Given the description of an element on the screen output the (x, y) to click on. 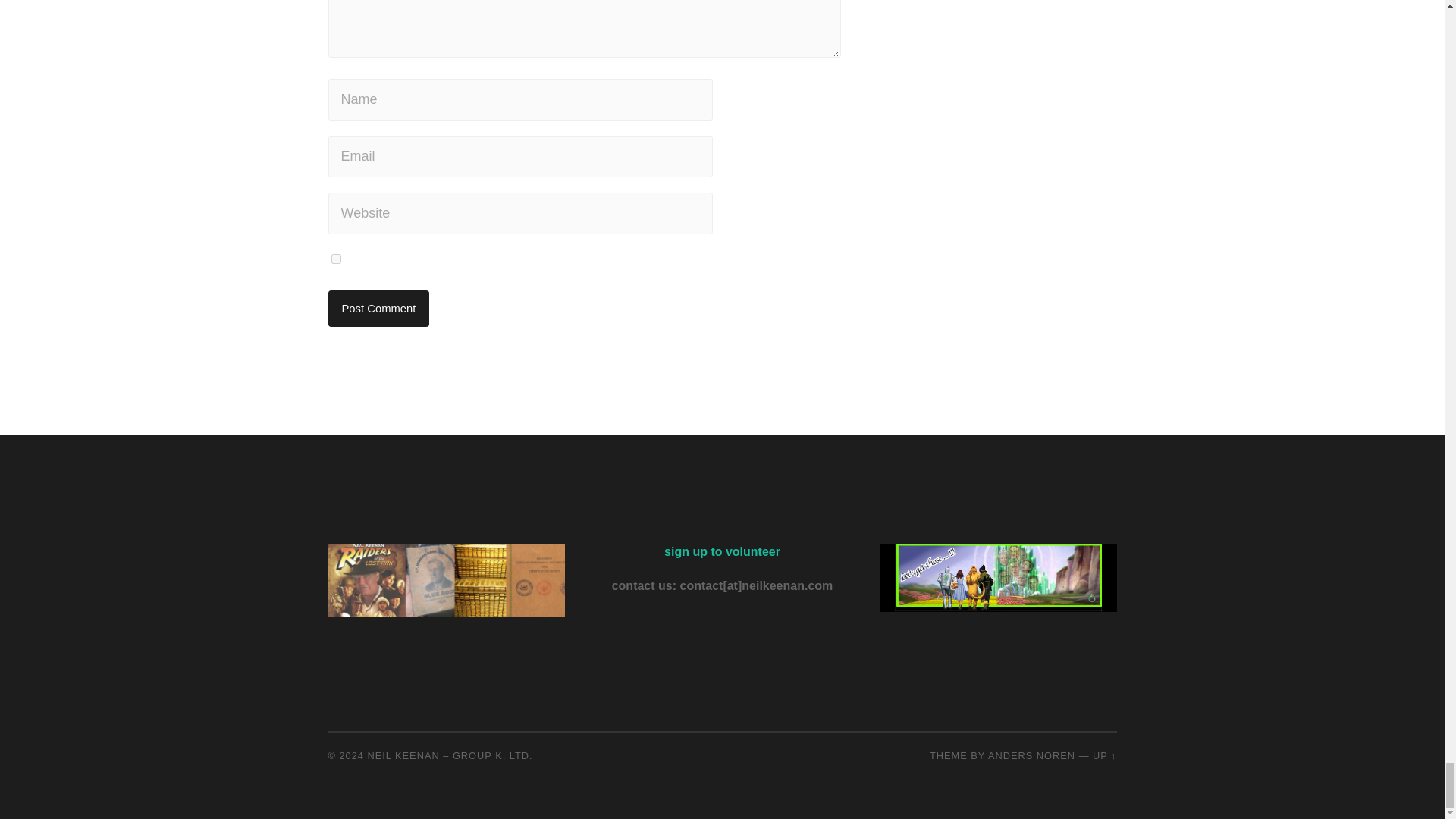
yes (335, 258)
Post Comment (378, 308)
To the top (1104, 755)
